Given the description of an element on the screen output the (x, y) to click on. 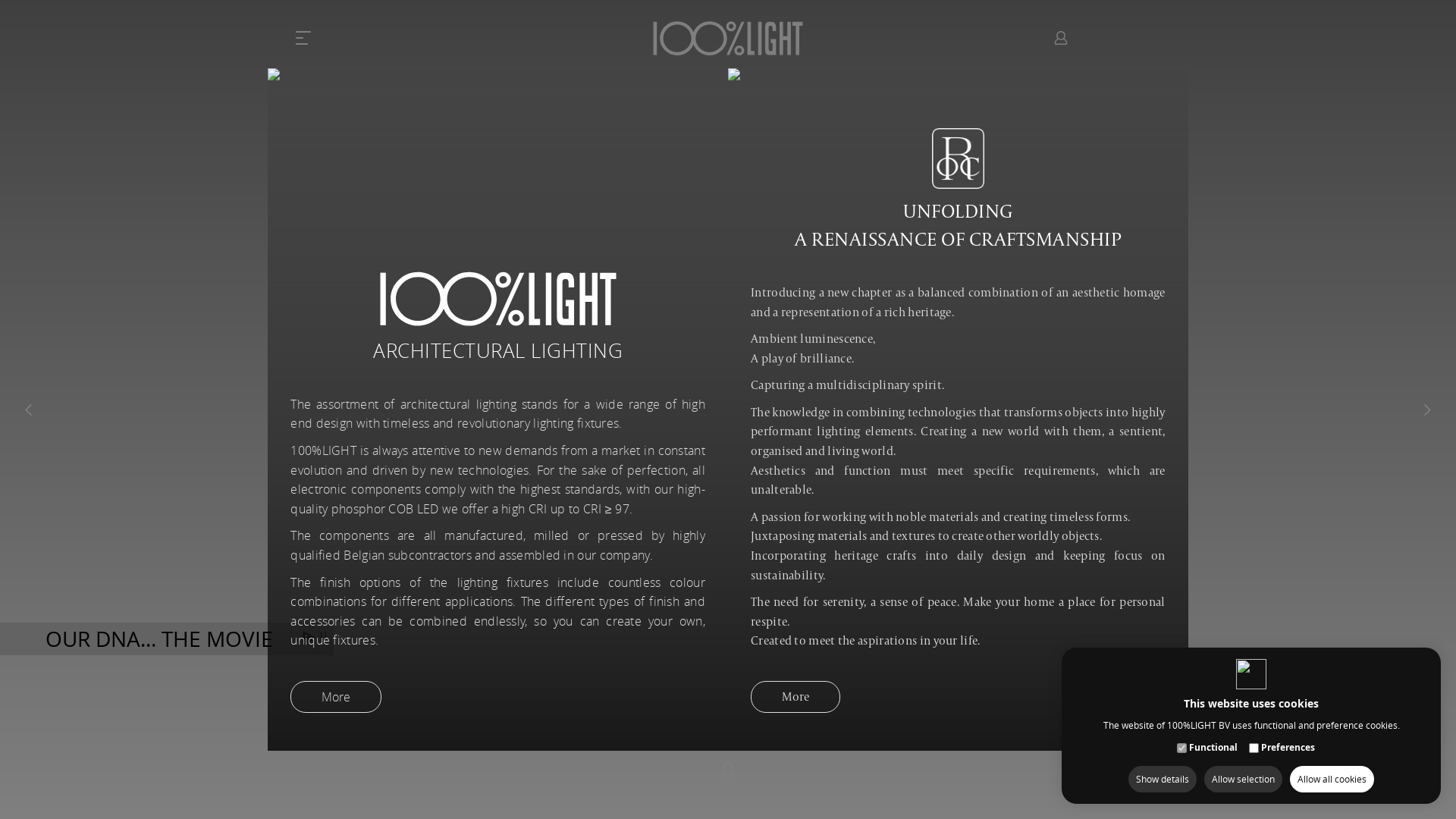
Menu Element type: hover (310, 37)
OUR DNA... THE MOVIE Element type: text (166, 638)
Previous Element type: text (28, 409)
Next Element type: text (1427, 409)
Account Element type: hover (1060, 37)
Show details Element type: text (1162, 778)
Scroll down Element type: hover (727, 769)
